Given the description of an element on the screen output the (x, y) to click on. 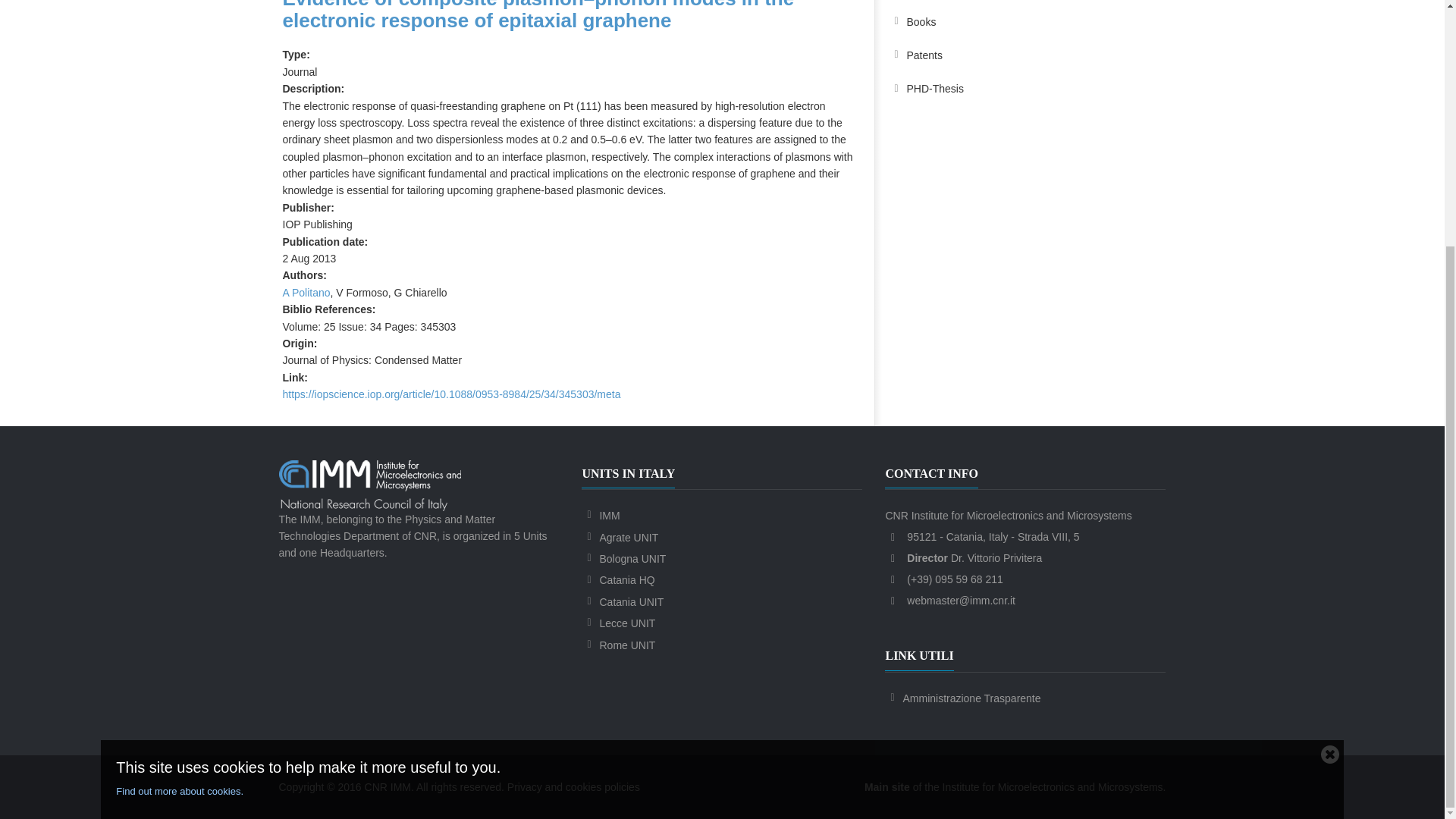
Find out more about cookies. (714, 448)
Close cookie notice (1329, 410)
